Given the description of an element on the screen output the (x, y) to click on. 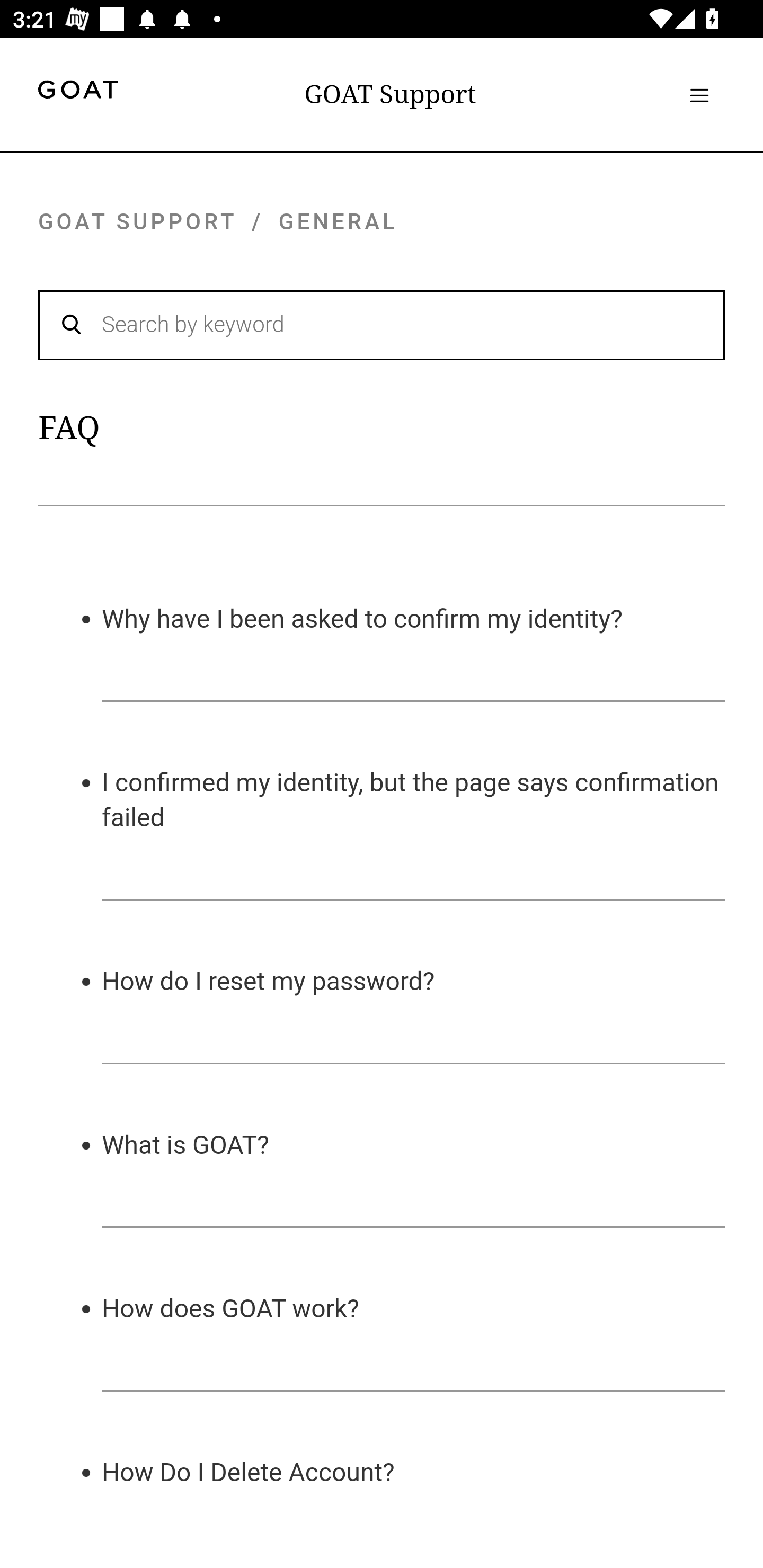
goat header logo (77, 92)
Toggle navigation menu (698, 94)
GOAT Support (389, 94)
GOAT SUPPORT (137, 221)
FAQ (68, 427)
Why have I been asked to confirm my identity? (362, 617)
How do I reset my password? (268, 979)
What is GOAT? (185, 1144)
How does GOAT work? (230, 1307)
How Do I Delete Account? (248, 1471)
